Given the description of an element on the screen output the (x, y) to click on. 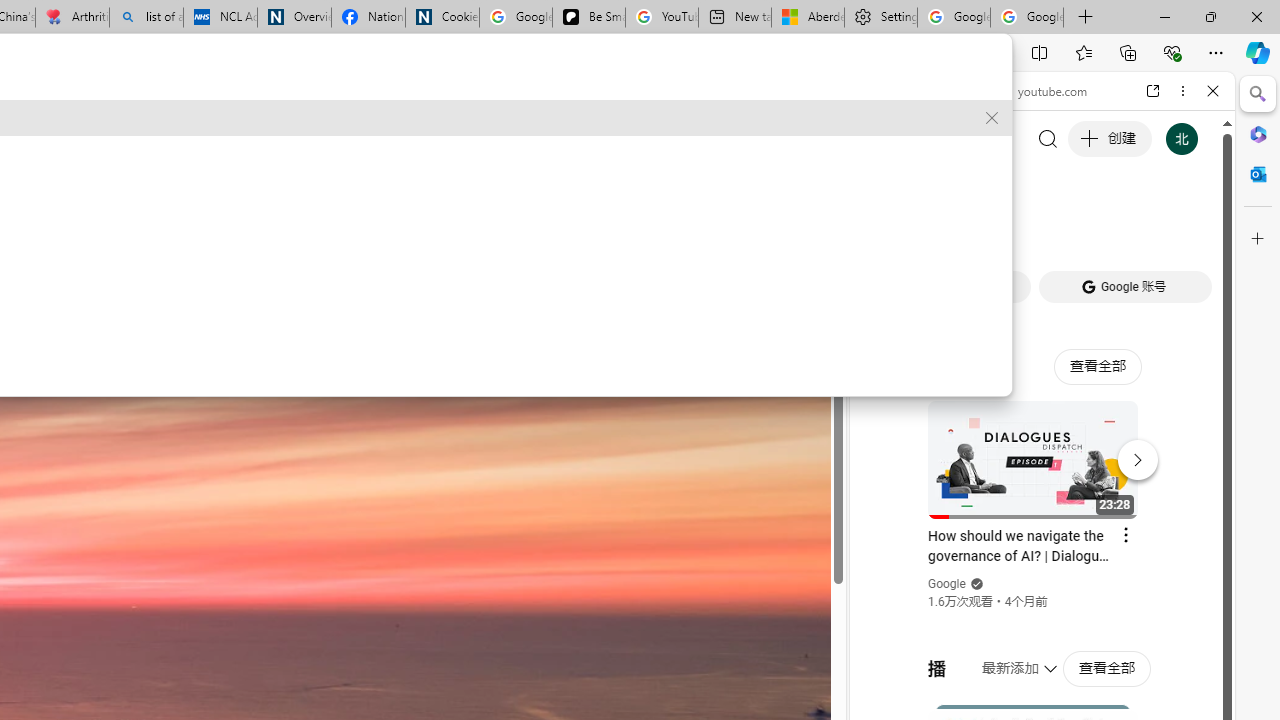
YouTube (1034, 296)
Class: b_serphb (1190, 229)
Restore (1210, 16)
Web scope (882, 180)
Back (874, 91)
Preferences (1189, 228)
Show More Music (1164, 546)
Search using voice (93, 362)
AutomationID: rh_meter (543, 94)
Settings and quick links (594, 95)
